Given the description of an element on the screen output the (x, y) to click on. 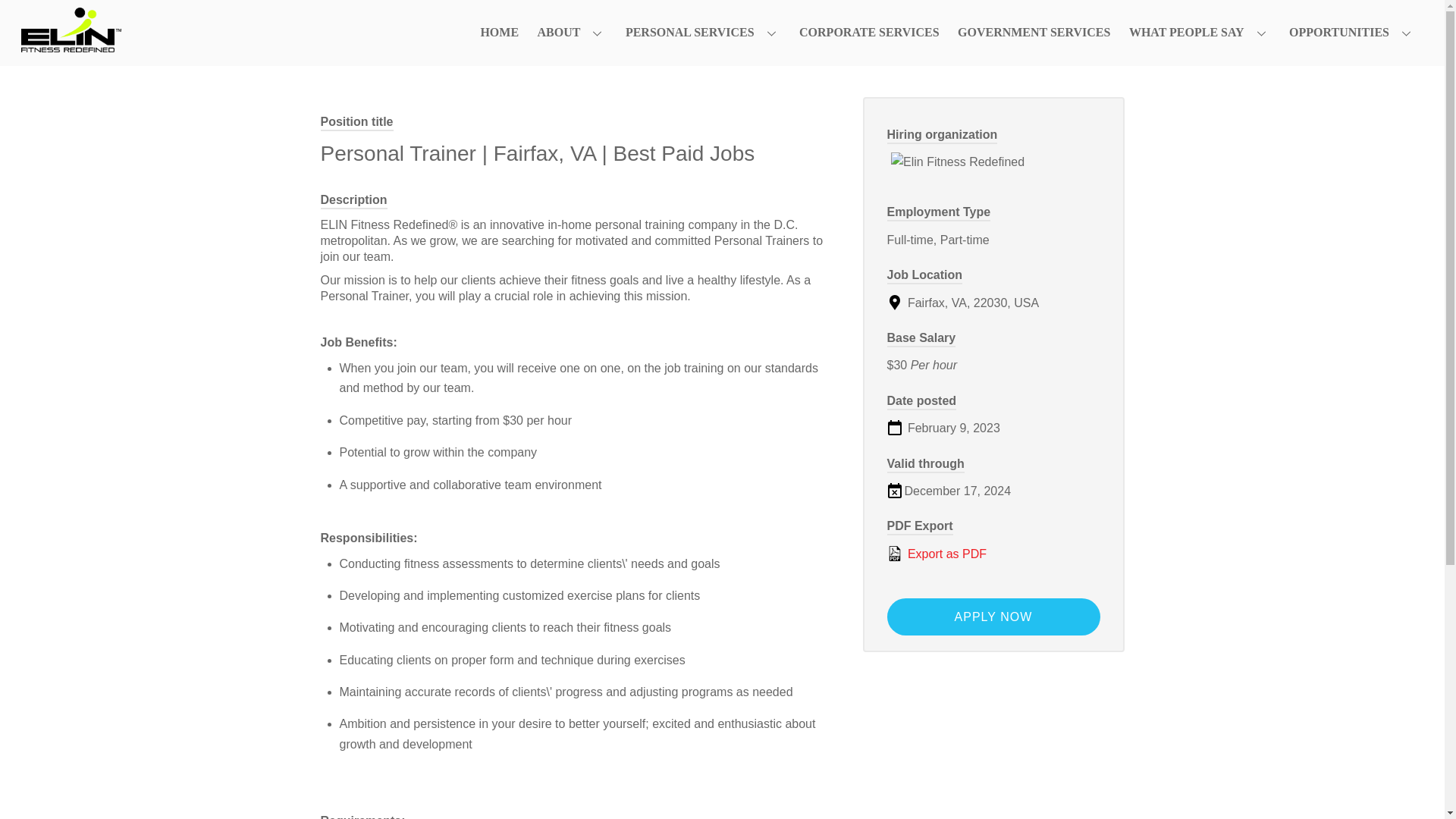
CORPORATE SERVICES (869, 31)
Export as PDF (993, 554)
WHAT PEOPLE SAY (1199, 31)
PERSONAL SERVICES (703, 31)
ELIN - Fitness Redefined (70, 44)
GOVERNMENT SERVICES (1034, 31)
HOME (498, 31)
APPLY NOW (993, 616)
ABOUT (571, 31)
OPPORTUNITIES (1352, 31)
logo dark big (70, 29)
Elin Fitness Redefined (993, 161)
